Given the description of an element on the screen output the (x, y) to click on. 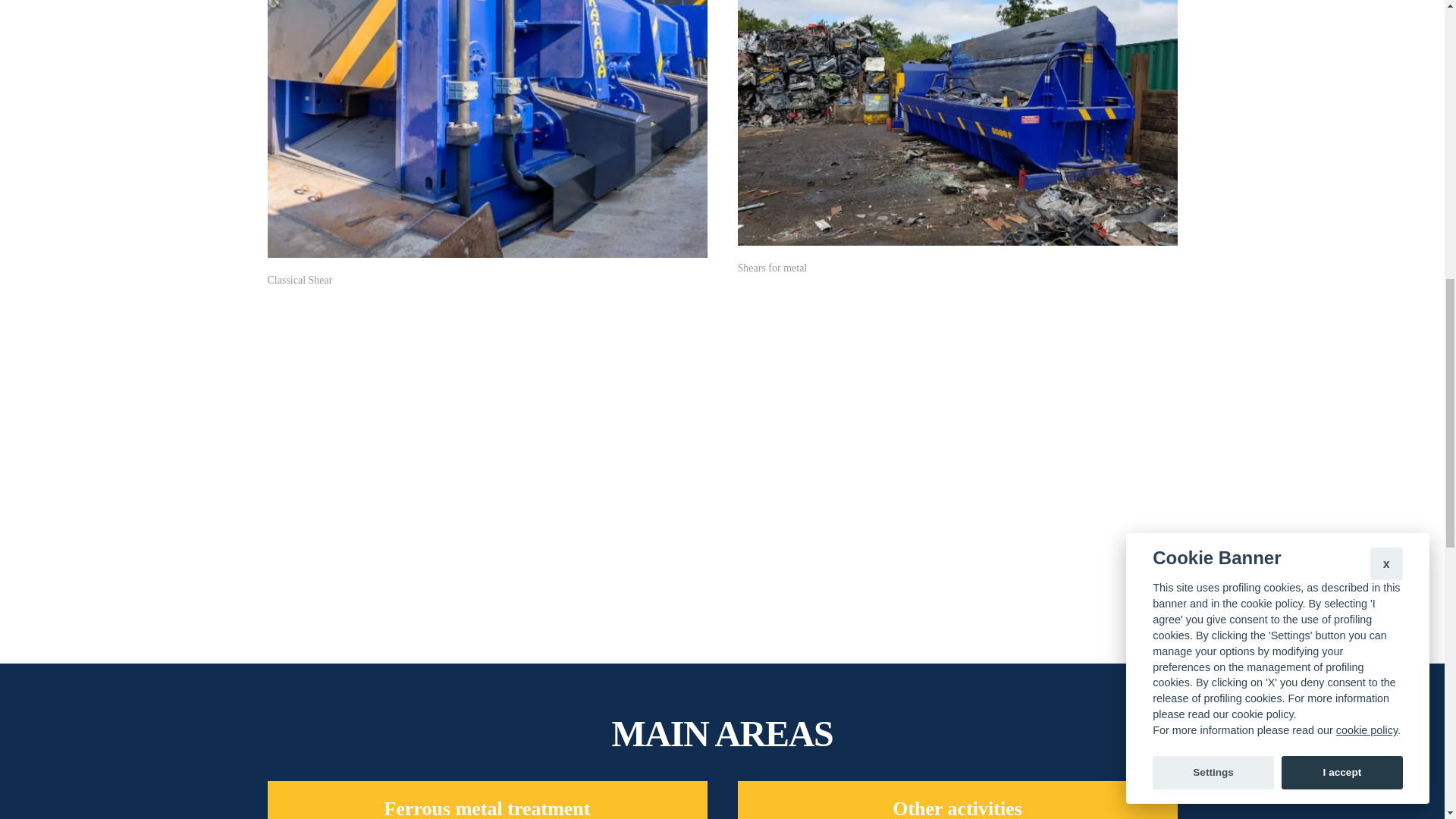
Shears for metal (956, 138)
Classical Shear (486, 144)
